Given the description of an element on the screen output the (x, y) to click on. 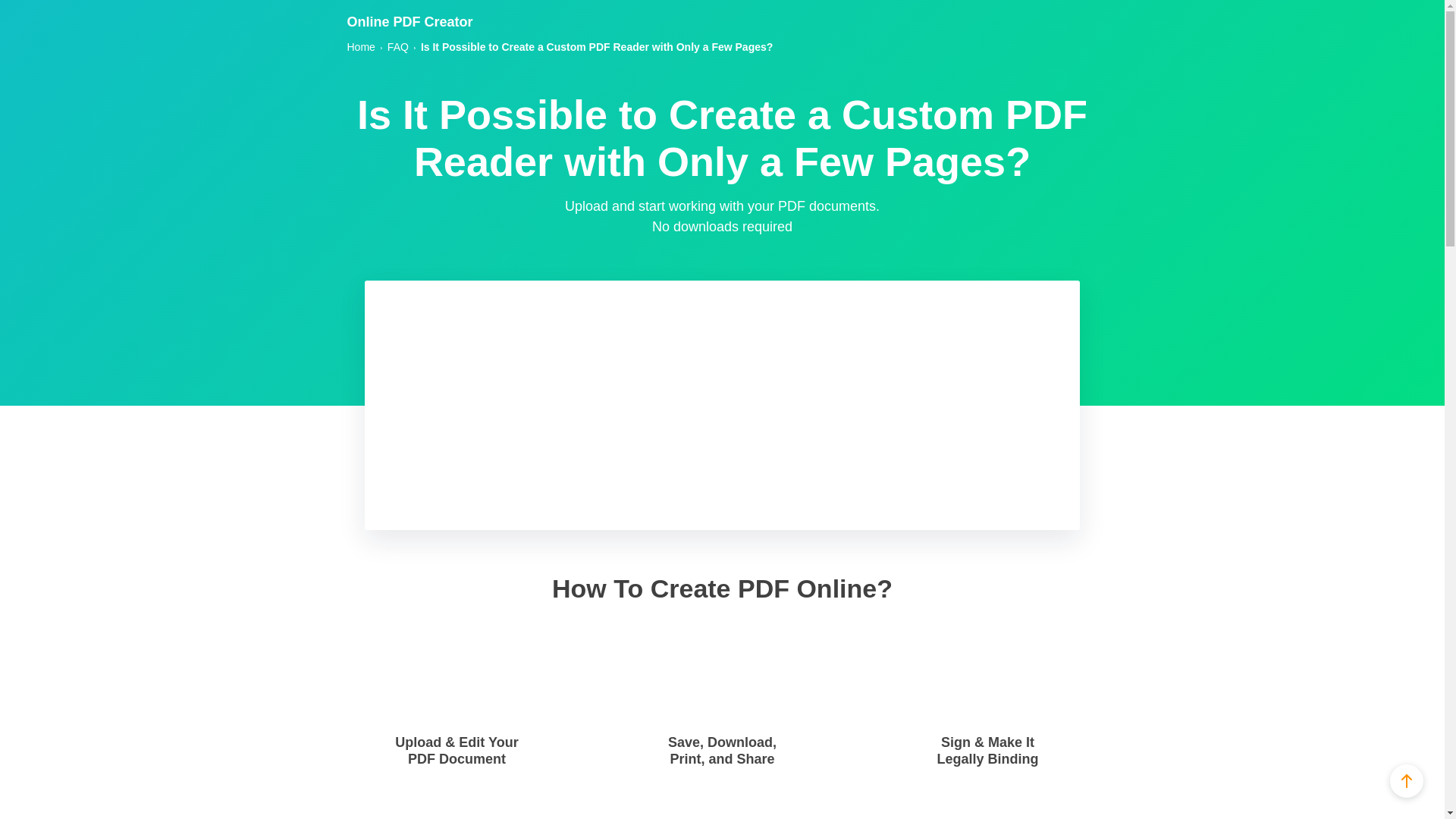
Scroll Up (1406, 780)
Online PDF Creator (410, 21)
Home (361, 46)
FAQ (398, 46)
